Given the description of an element on the screen output the (x, y) to click on. 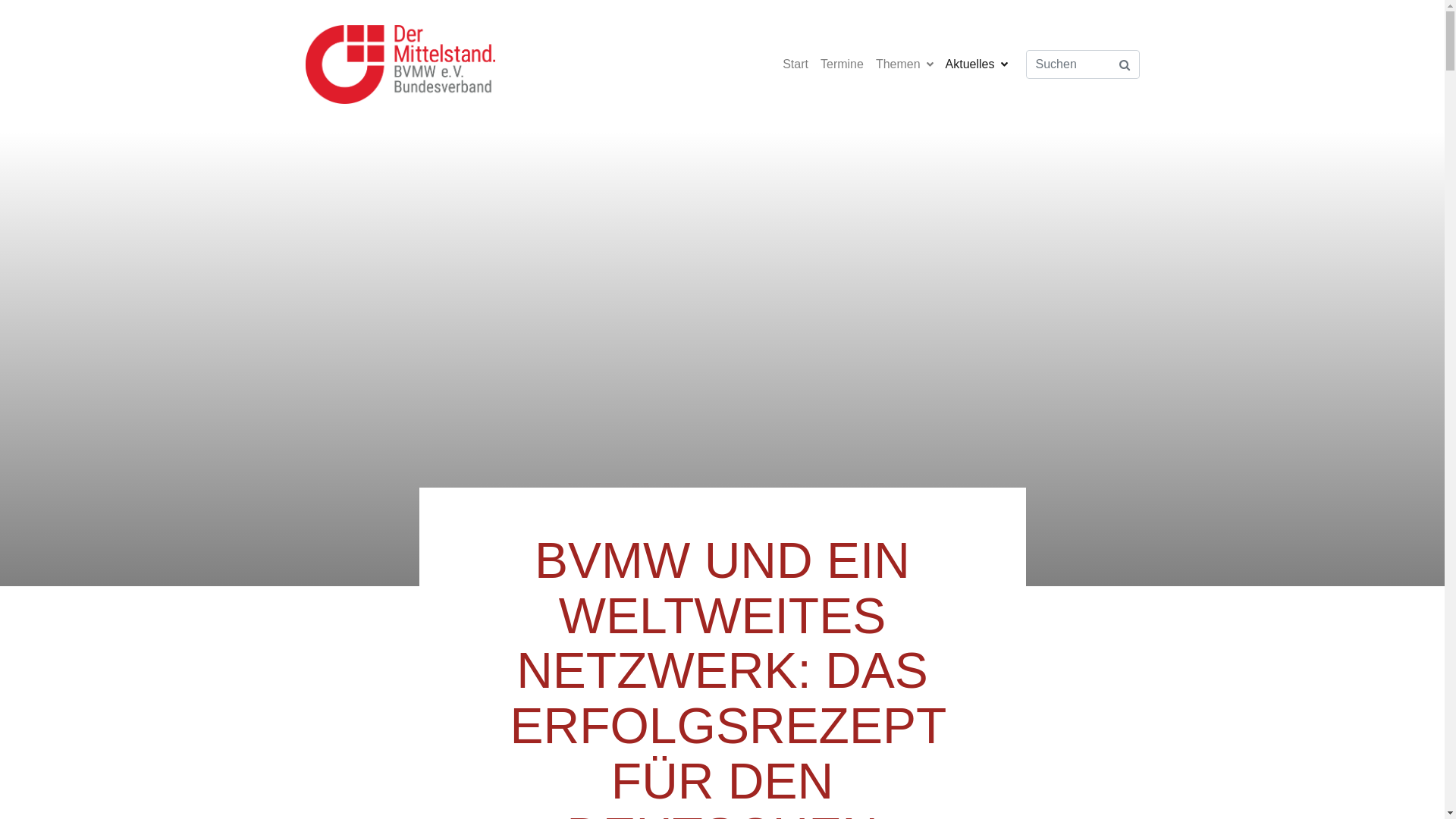
Themen Element type: text (904, 64)
Aktuelles Element type: text (976, 64)
Start Element type: text (795, 64)
Termine Element type: text (841, 64)
